Given the description of an element on the screen output the (x, y) to click on. 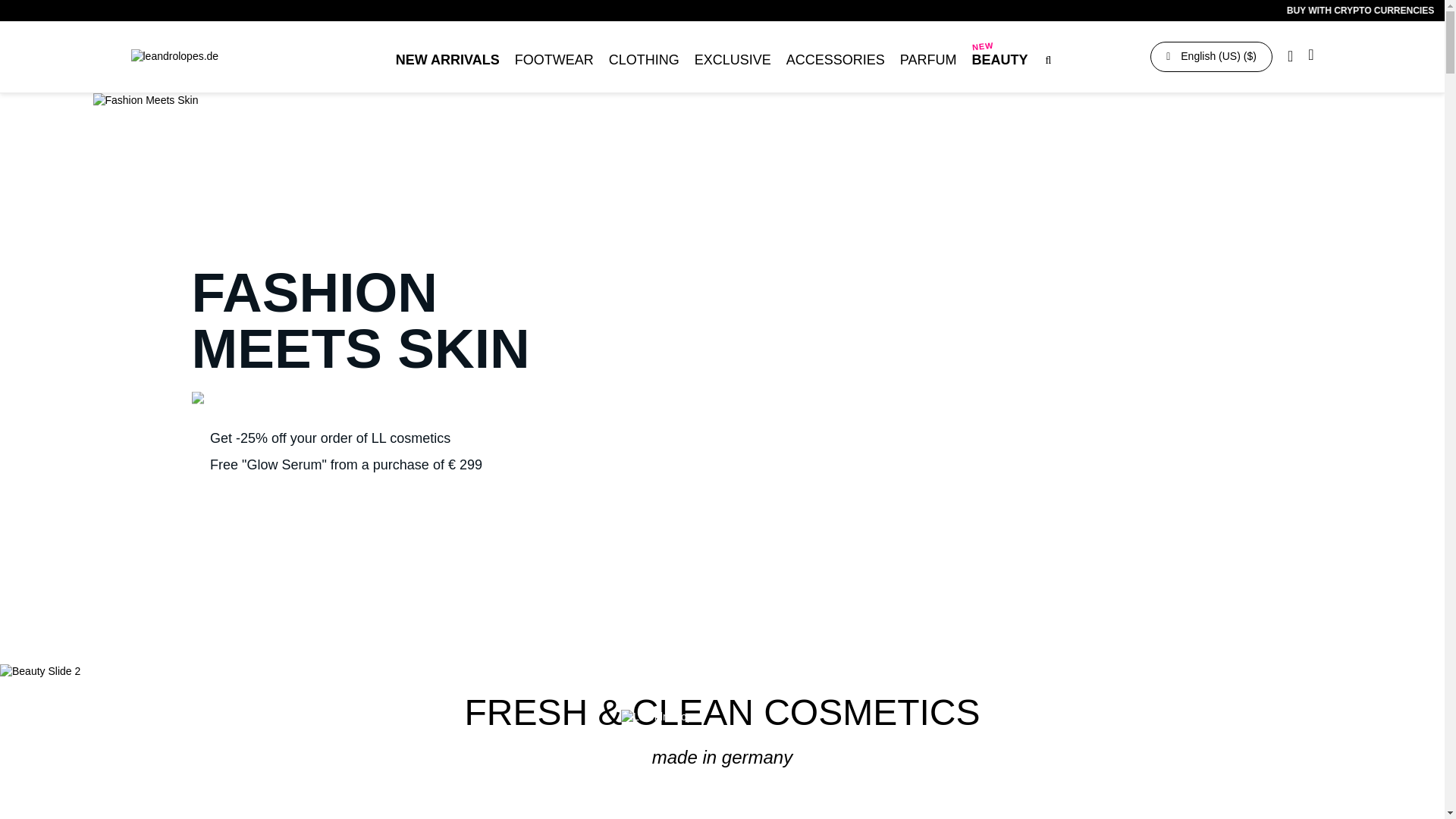
NEW ARRIVALS (447, 60)
ACCESSORIES (835, 60)
CLOTHING (643, 60)
FOOTWEAR (554, 60)
PARFUM (927, 60)
EXCLUSIVE (732, 60)
BEAUTY (999, 60)
leandrolopes.de (214, 56)
